Given the description of an element on the screen output the (x, y) to click on. 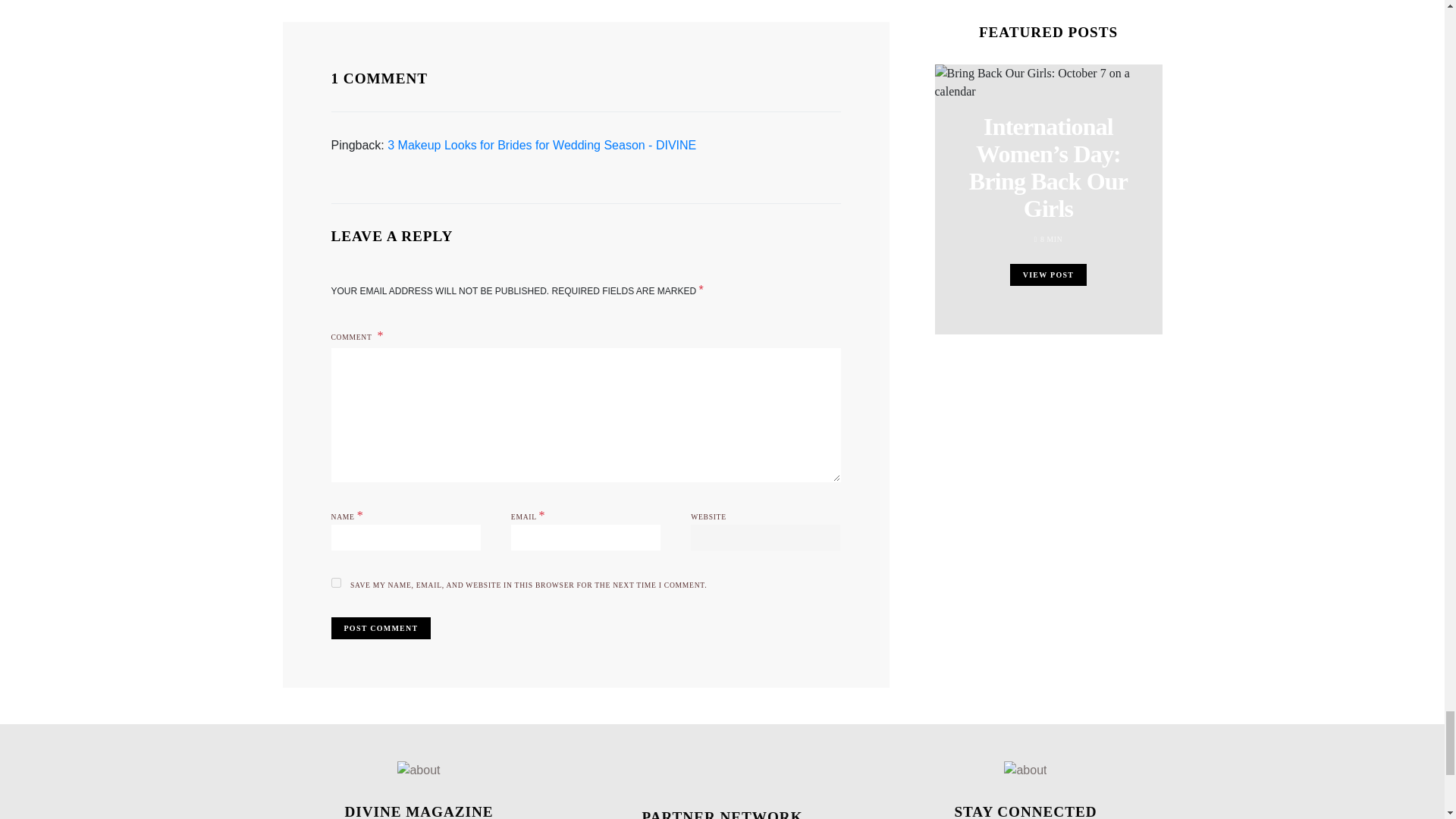
Post Comment (380, 628)
yes (335, 583)
